Given the description of an element on the screen output the (x, y) to click on. 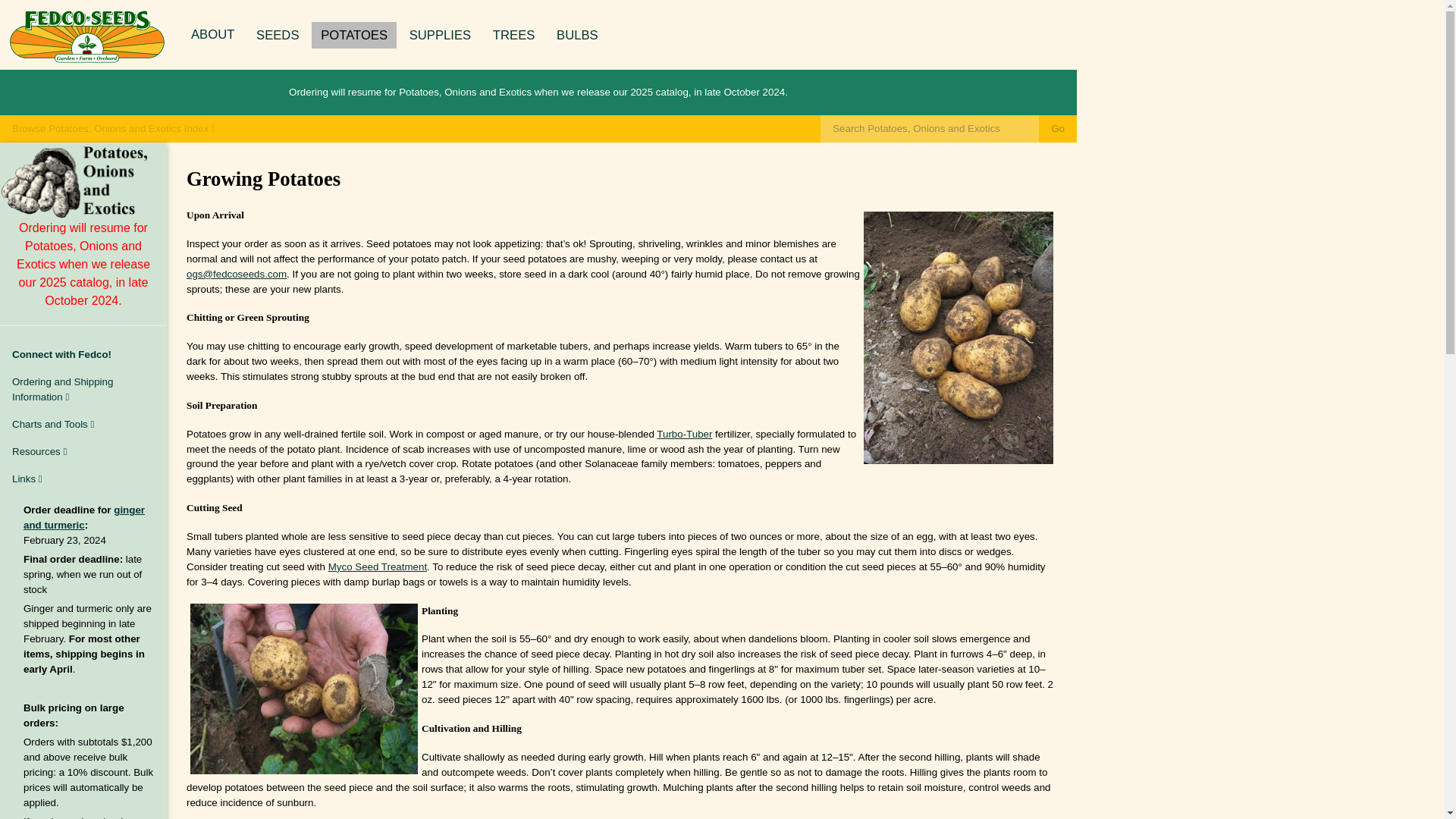
Go (1058, 128)
Fedco Bulbs (577, 35)
Browse Potatoes, Onions and Exotics Index (113, 128)
ABOUT (212, 34)
BULBS (577, 35)
Organic Growers Supply (440, 35)
TREES (513, 35)
POTATOES (353, 35)
Fedco Trees (513, 35)
Go (1058, 128)
SUPPLIES (440, 35)
Potatoes, Onions and Exotics (353, 35)
SEEDS (277, 35)
About Fedco (212, 34)
Fedco Seeds (277, 35)
